Given the description of an element on the screen output the (x, y) to click on. 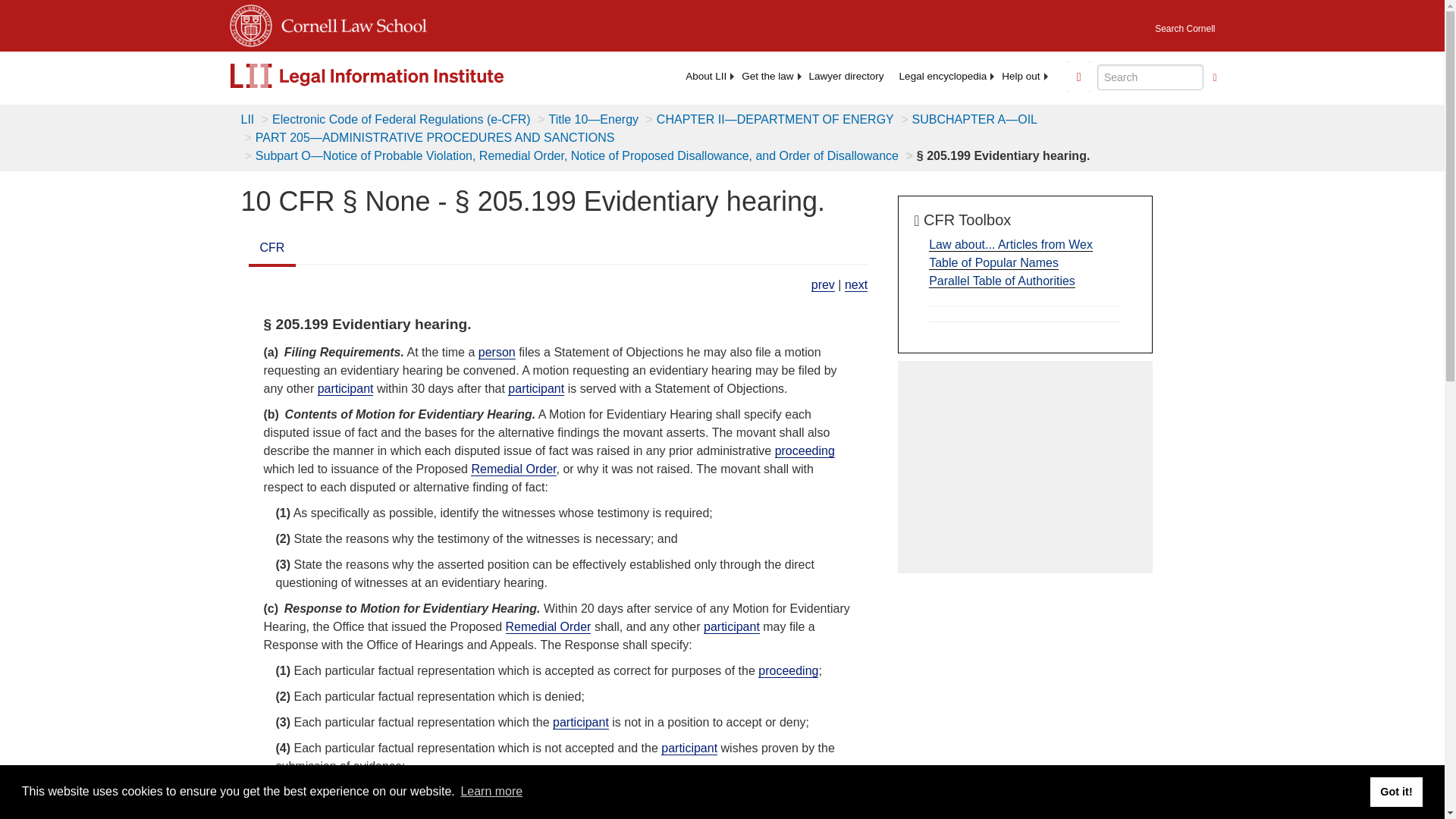
Learn more (491, 791)
Lawyer directory (846, 76)
Search Cornell University (1184, 24)
Got it! (1396, 791)
Legal encyclopedia (942, 76)
Cornell University (249, 23)
Search Cornell (1184, 24)
Get the law (766, 76)
3rd party ad content (1025, 467)
Cornell Law School (348, 23)
